Given the description of an element on the screen output the (x, y) to click on. 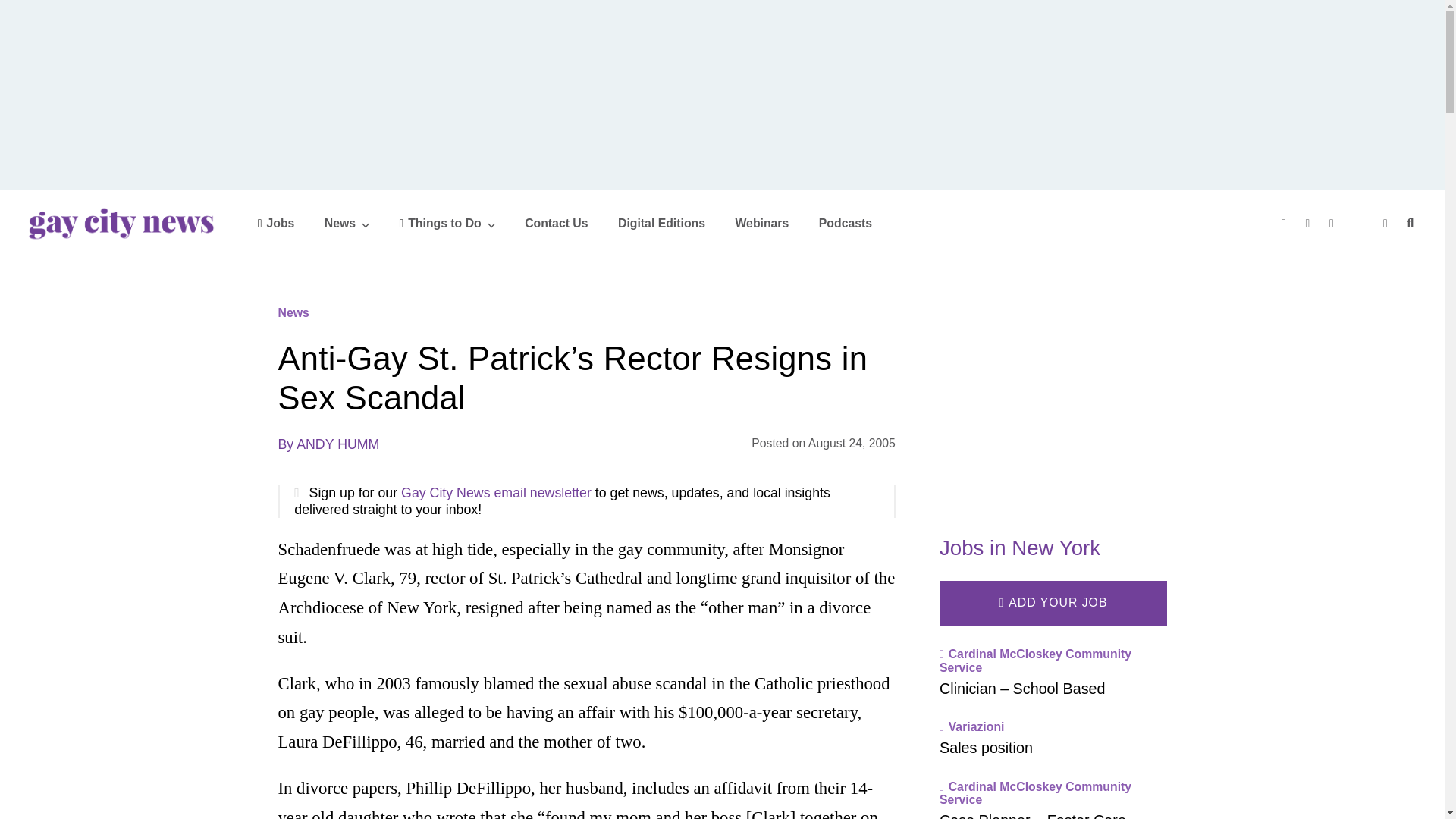
Webinars (762, 223)
Contact Us (556, 223)
Podcasts (845, 223)
News (346, 223)
Jobs (276, 223)
Digital Editions (660, 223)
Things to Do (446, 223)
